Given the description of an element on the screen output the (x, y) to click on. 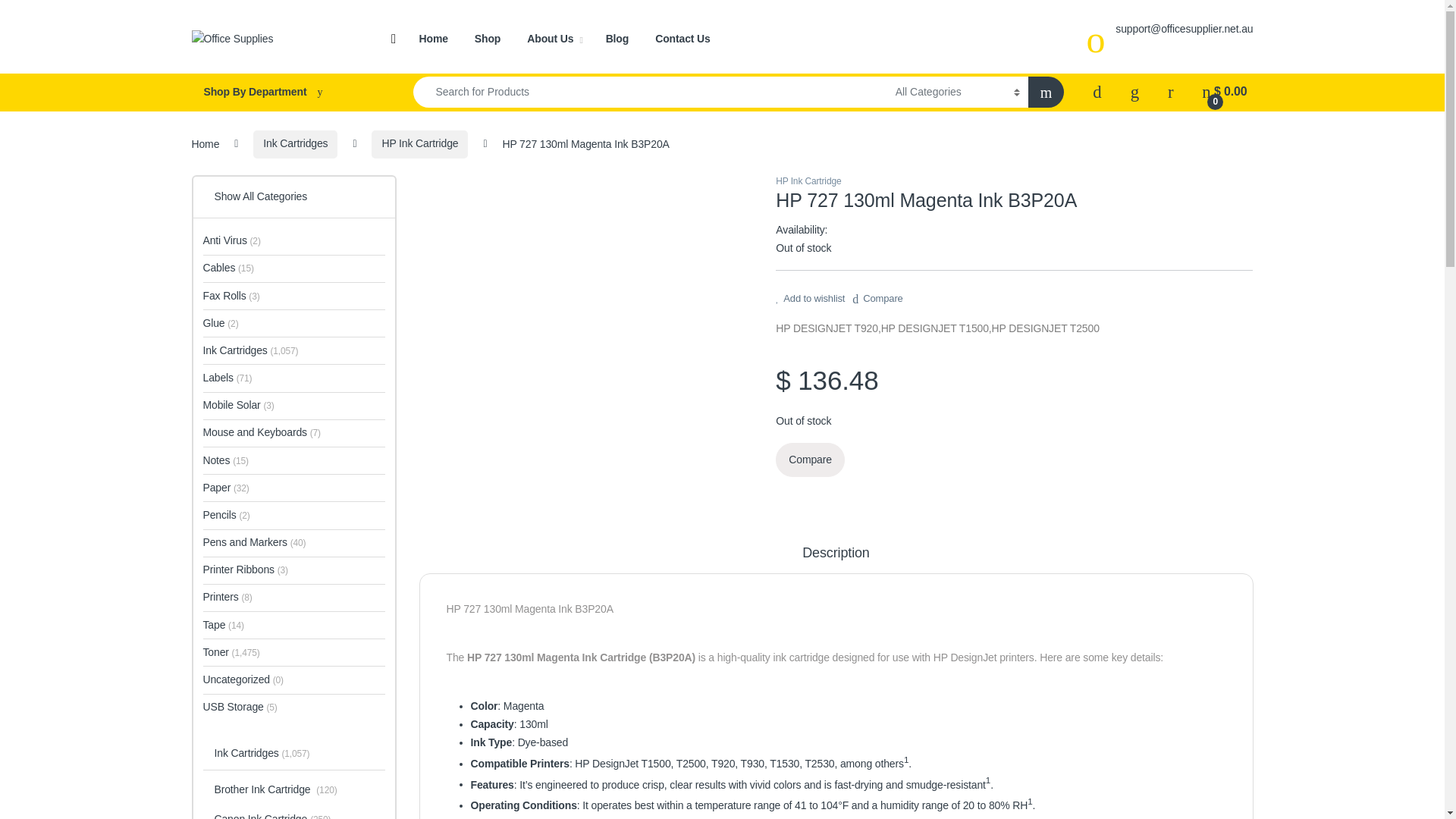
About Us (554, 39)
About Us (554, 39)
Contact Us (682, 39)
Shop (487, 39)
Shop By Department (287, 92)
Contact Us (682, 39)
Ink Cartridges (295, 144)
Add to wishlist (810, 297)
HP Ink Cartridge (419, 144)
Blog (616, 39)
Blog (616, 39)
Home (204, 143)
Shop (487, 39)
HP Ink Cartridge (808, 181)
Home (432, 39)
